Given the description of an element on the screen output the (x, y) to click on. 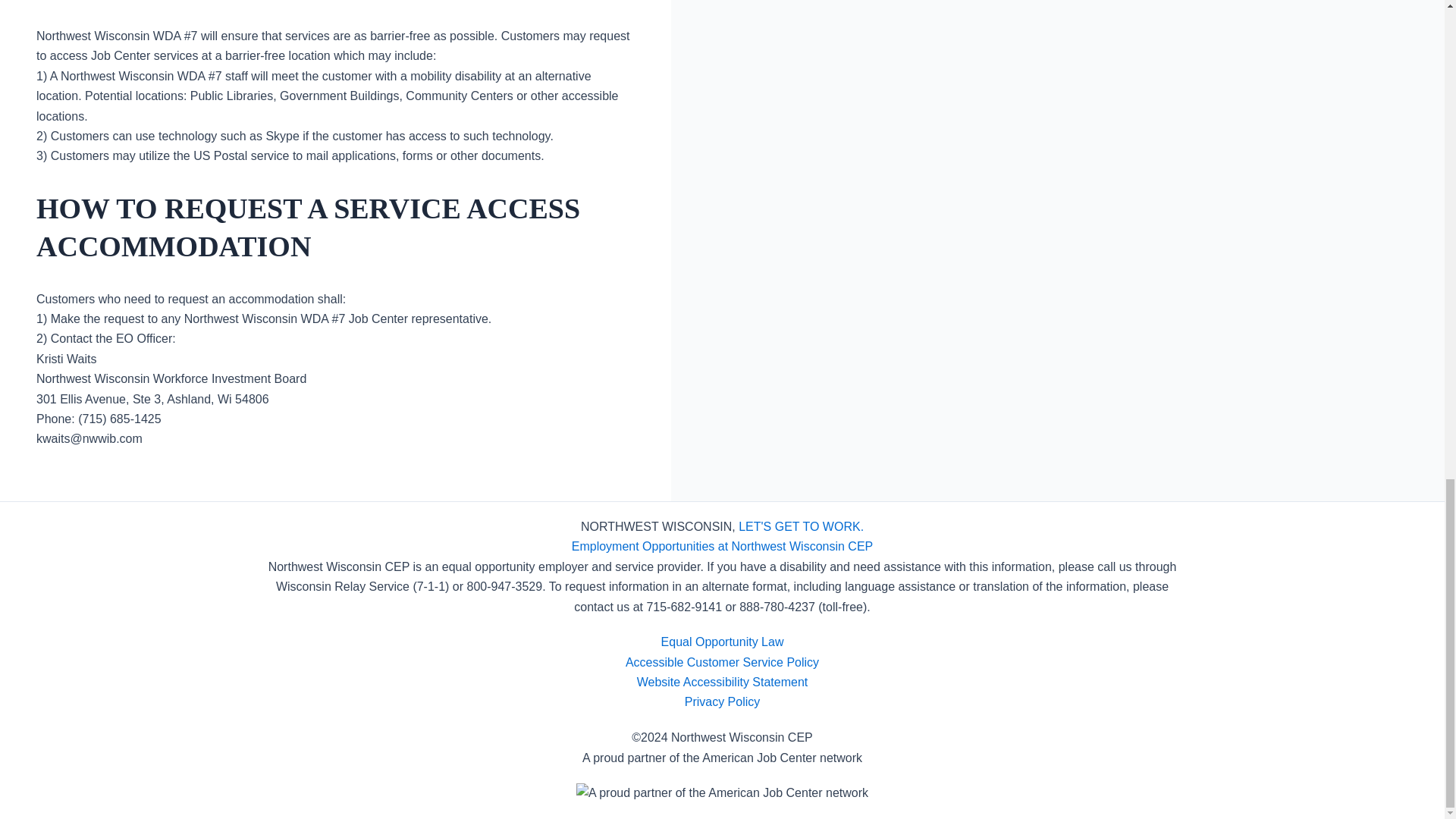
Privacy Policy (722, 701)
Website Accessibility Statement (722, 681)
Employment Opportunities at Northwest Wisconsin CEP (722, 545)
Accessible Customer Service Policy (722, 662)
LET'S GET TO WORK. (800, 526)
Equal Opportunity Law (722, 641)
